Given the description of an element on the screen output the (x, y) to click on. 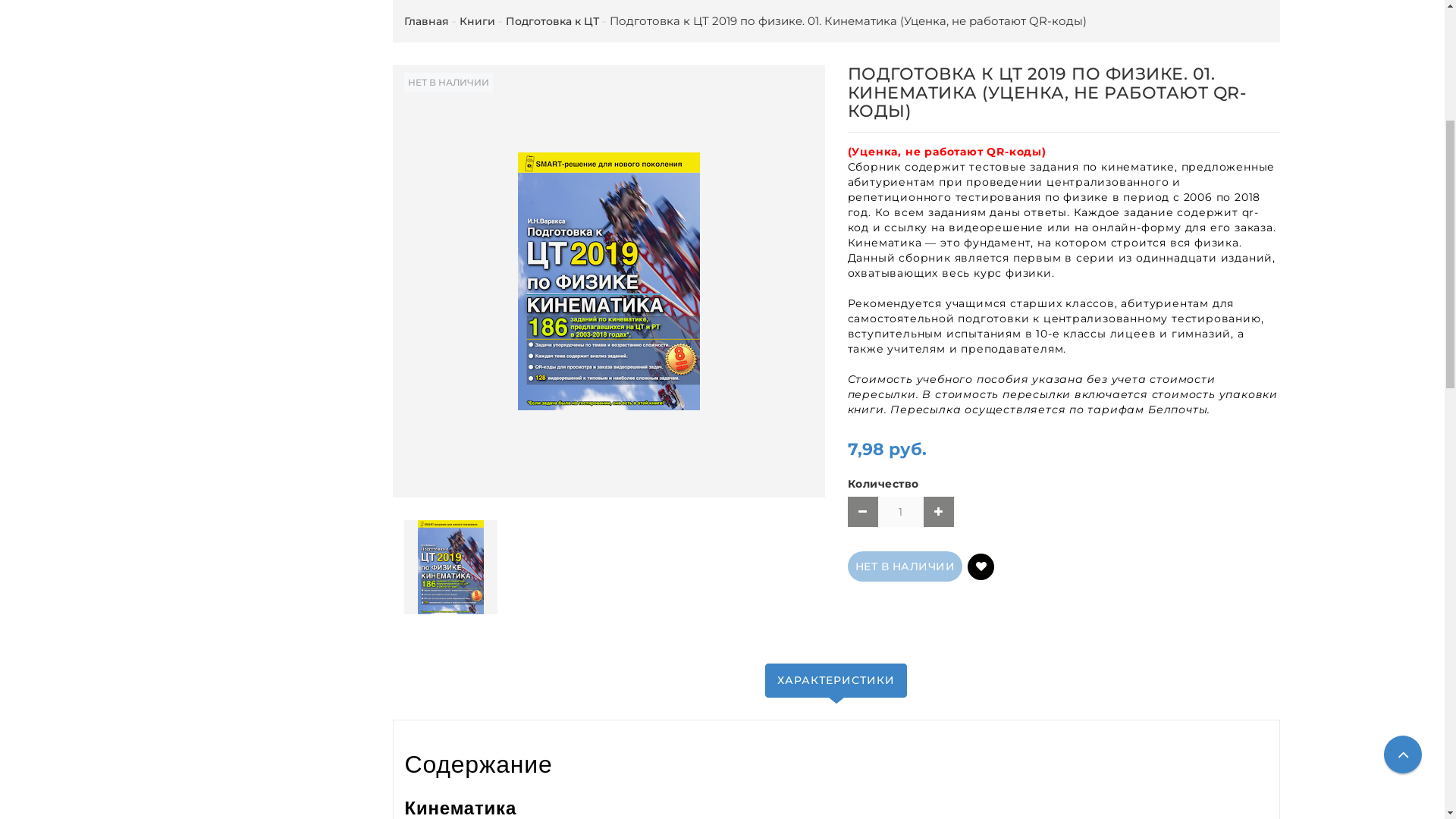
Viber Element type: text (726, 18)
Telegram Element type: text (827, 18)
shop@lyceum.by Element type: text (721, 38)
+375 29 609 56 19 Element type: text (658, 18)
WhatsApp Element type: text (772, 18)
